Given the description of an element on the screen output the (x, y) to click on. 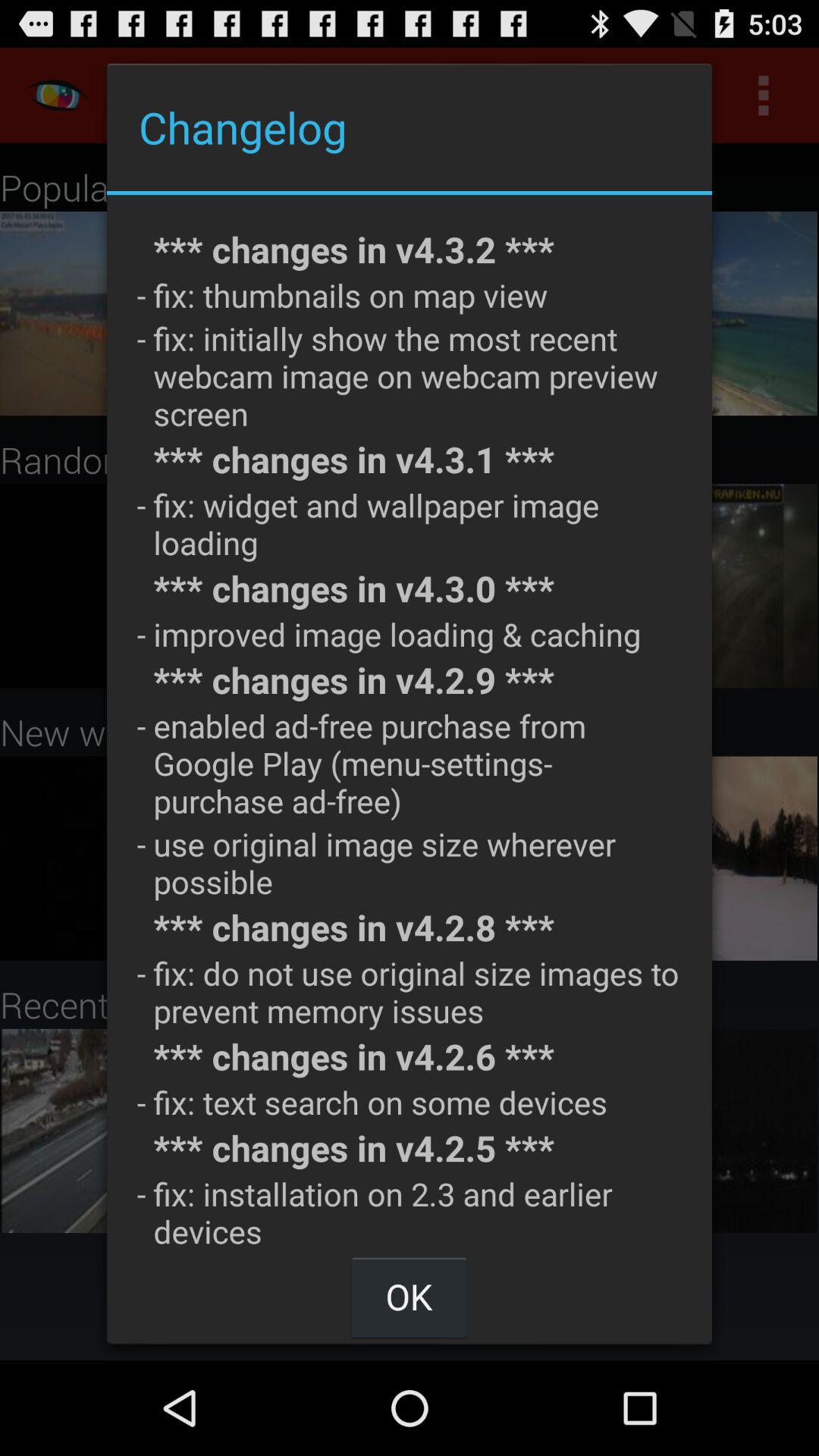
flip until ok   button (408, 1296)
